Given the description of an element on the screen output the (x, y) to click on. 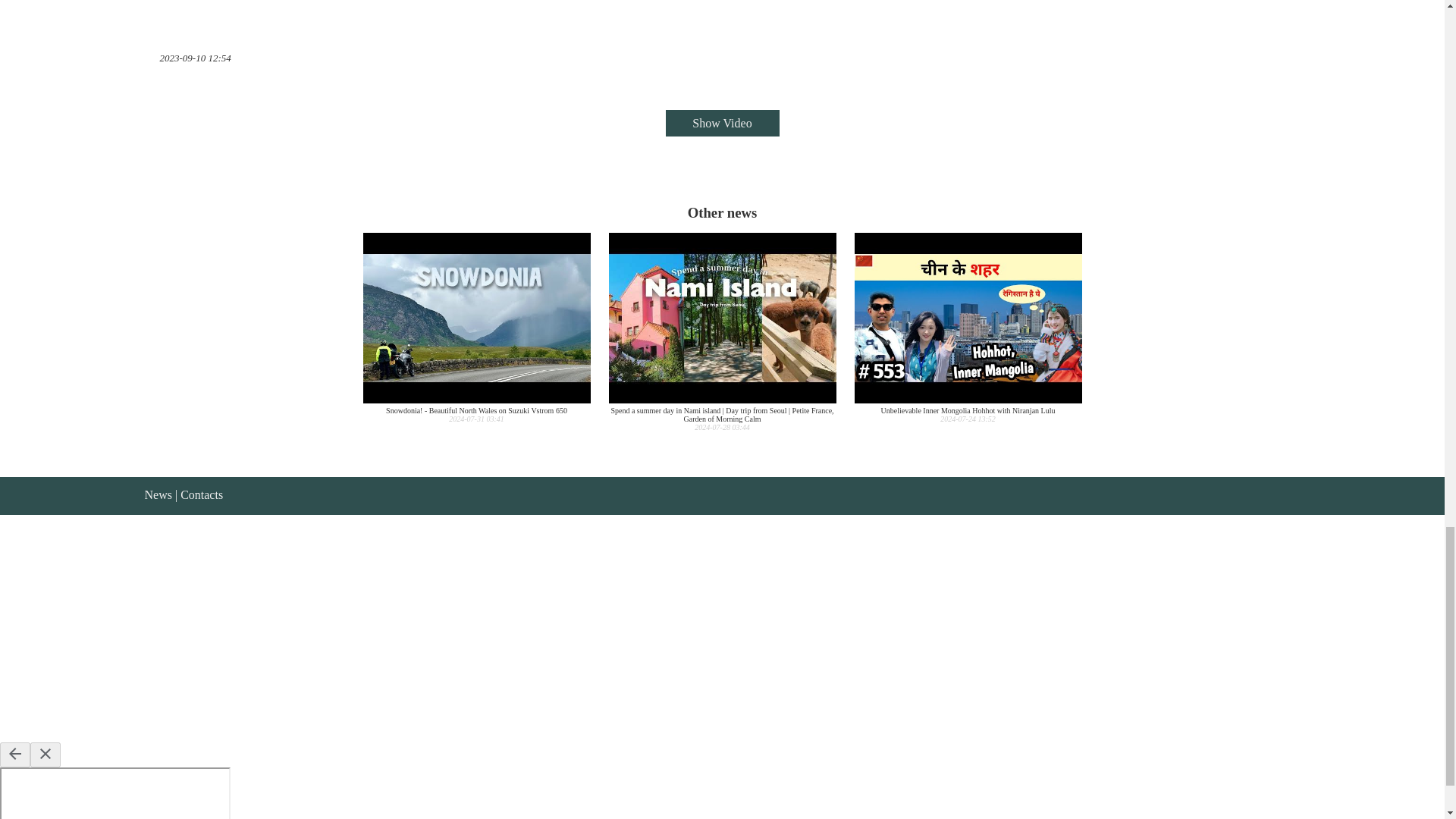
News (157, 494)
Snowdonia! - Beautiful North Wales on Suzuki Vstrom 650 (475, 327)
Unbelievable Inner Mongolia Hohhot with Niranjan Lulu (967, 327)
Contacts (201, 494)
